Given the description of an element on the screen output the (x, y) to click on. 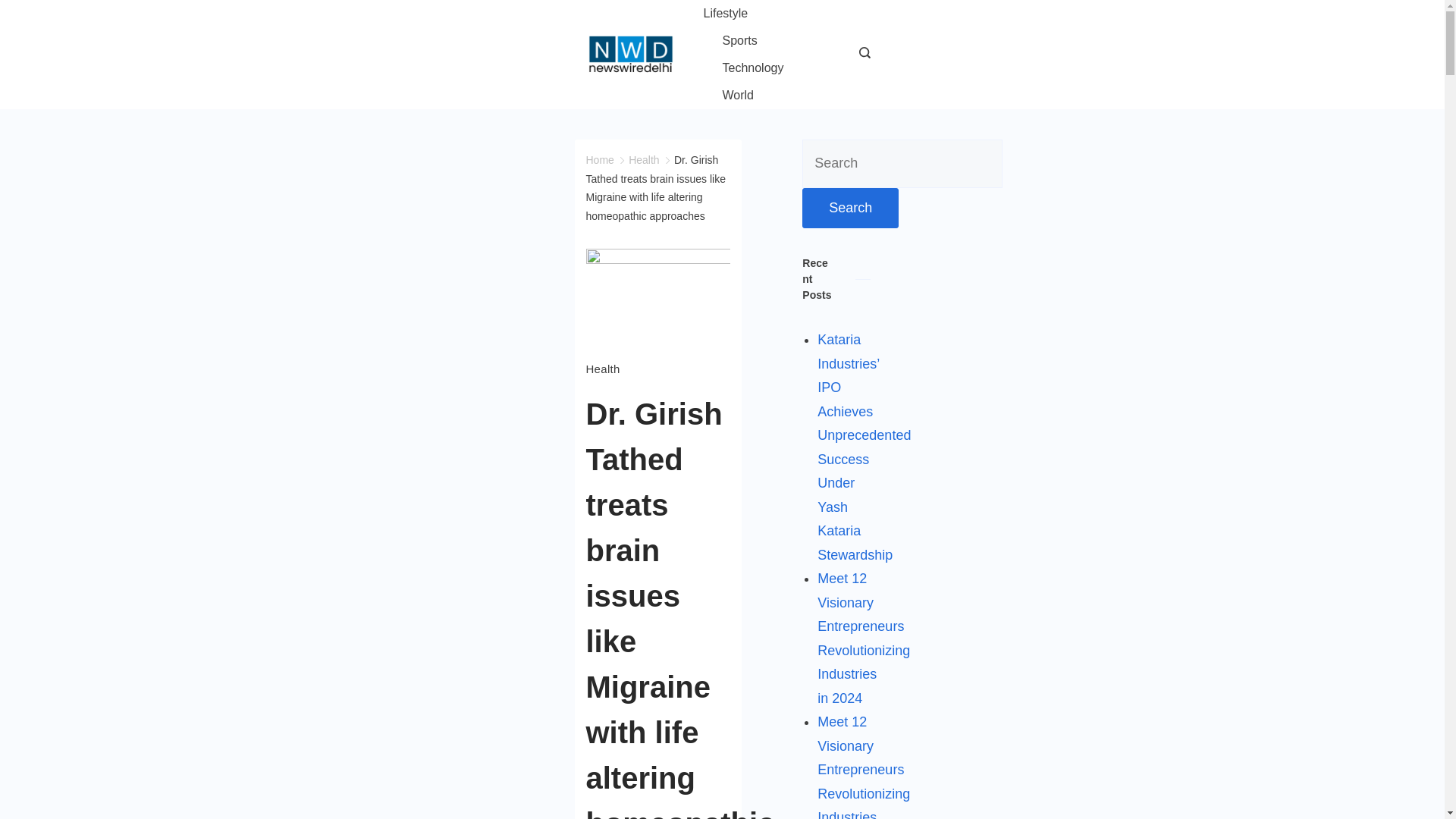
Search (850, 208)
Health (643, 159)
Search (850, 208)
World (728, 94)
Technology (753, 67)
Lifestyle (735, 13)
Sports (739, 40)
Search (850, 208)
Home (598, 159)
Search Input (902, 163)
Health (602, 369)
